Given the description of an element on the screen output the (x, y) to click on. 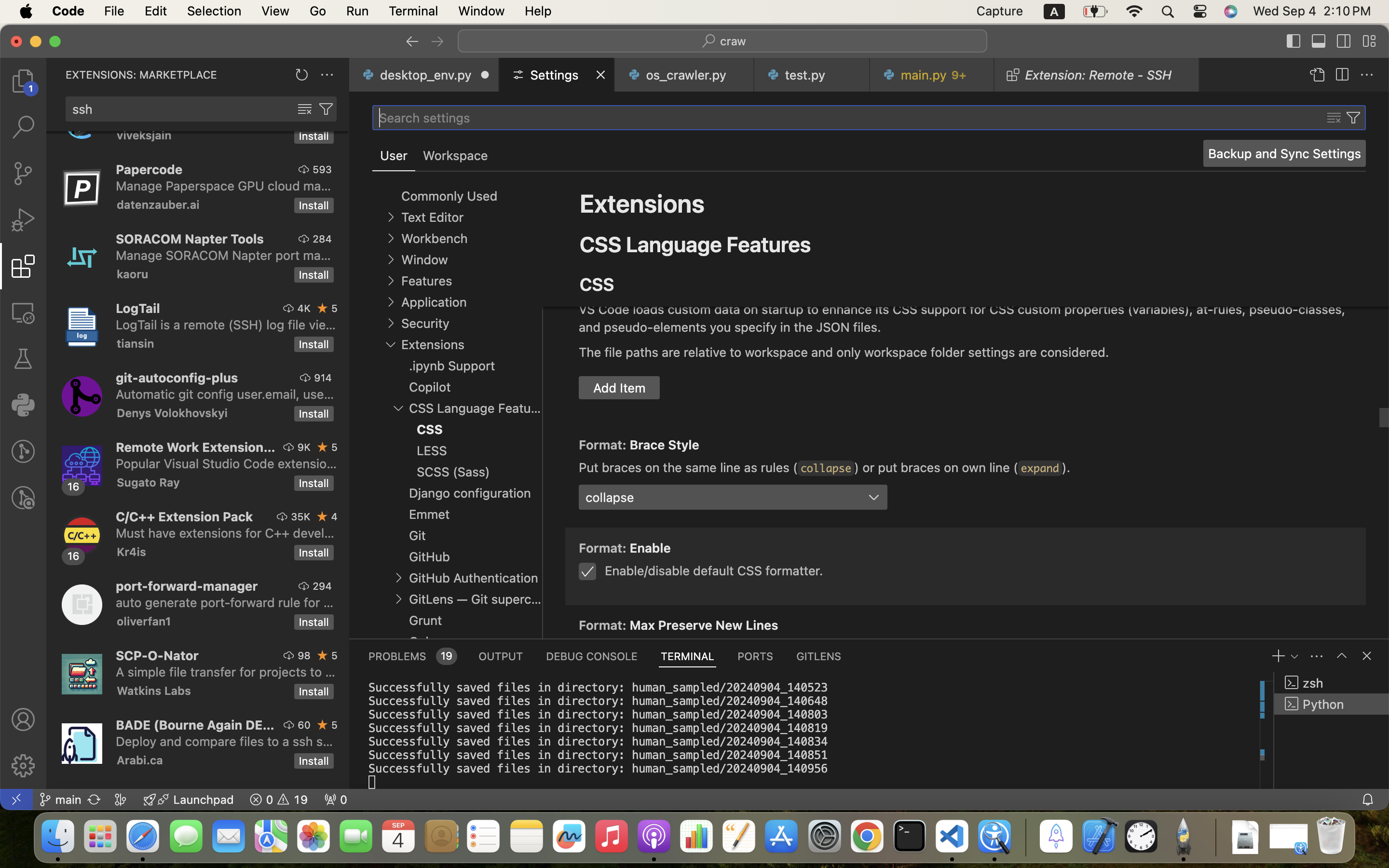
 Element type: AXCheckBox (1293, 41)
main  Element type: AXButton (59, 799)
Commonly Used Element type: AXStaticText (449, 196)
 Element type: AXStaticText (325, 108)
0 PROBLEMS 19 Element type: AXRadioButton (411, 655)
